Given the description of an element on the screen output the (x, y) to click on. 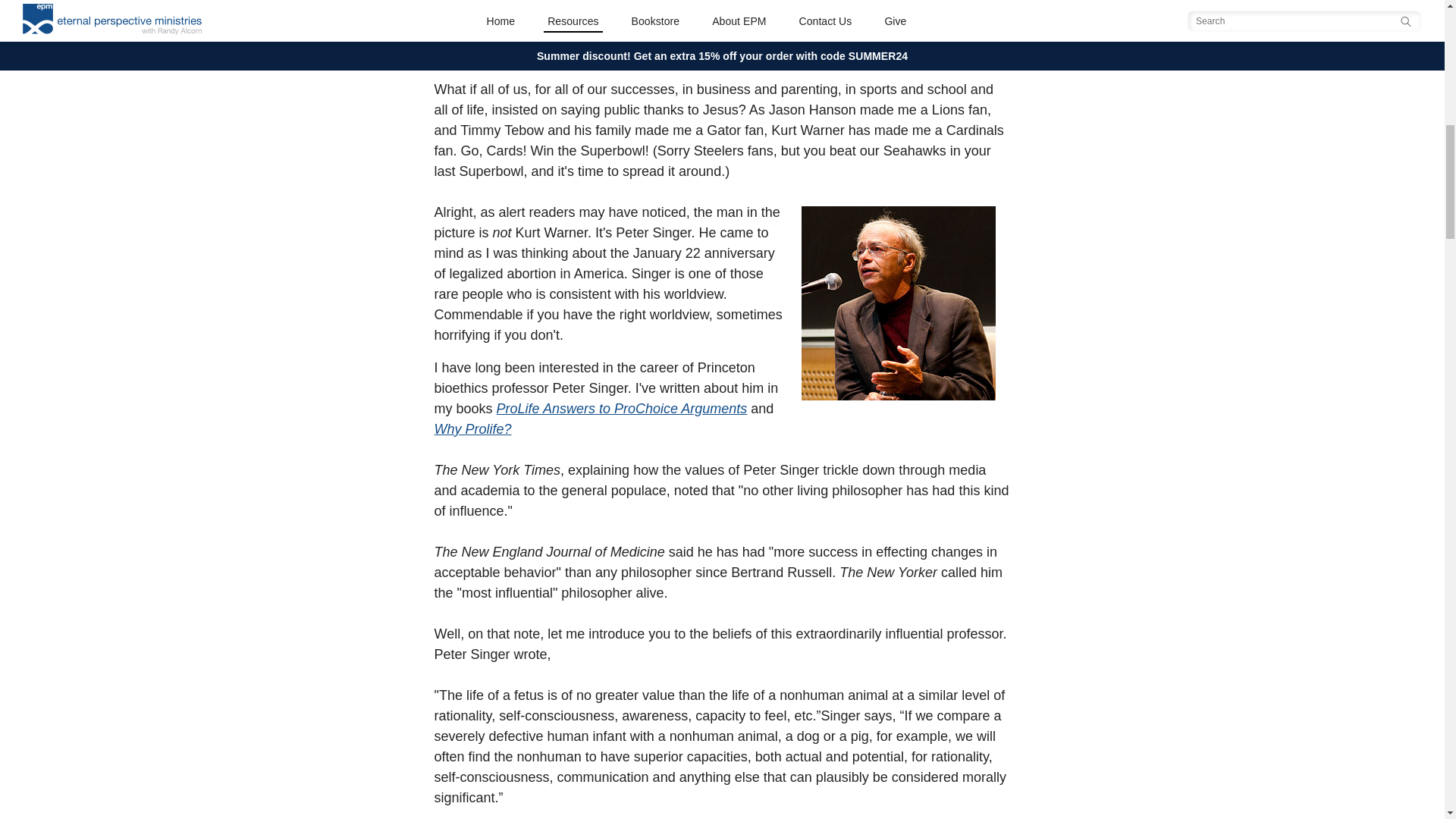
ProLife Answers to ProChoice Arguments (622, 408)
Why Prolife? (472, 428)
